Given the description of an element on the screen output the (x, y) to click on. 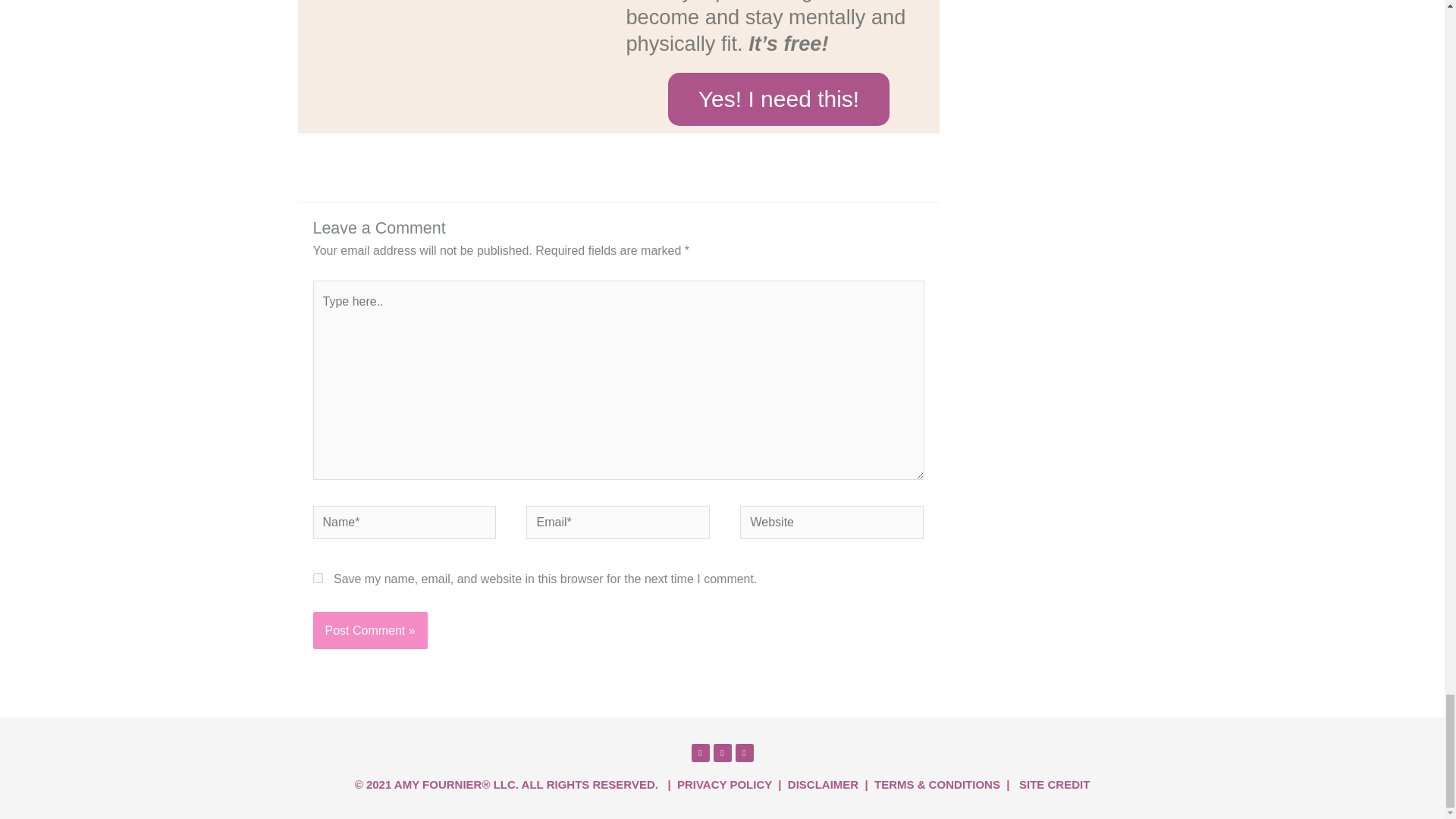
yes (317, 578)
Yes! I need this! (778, 99)
